Given the description of an element on the screen output the (x, y) to click on. 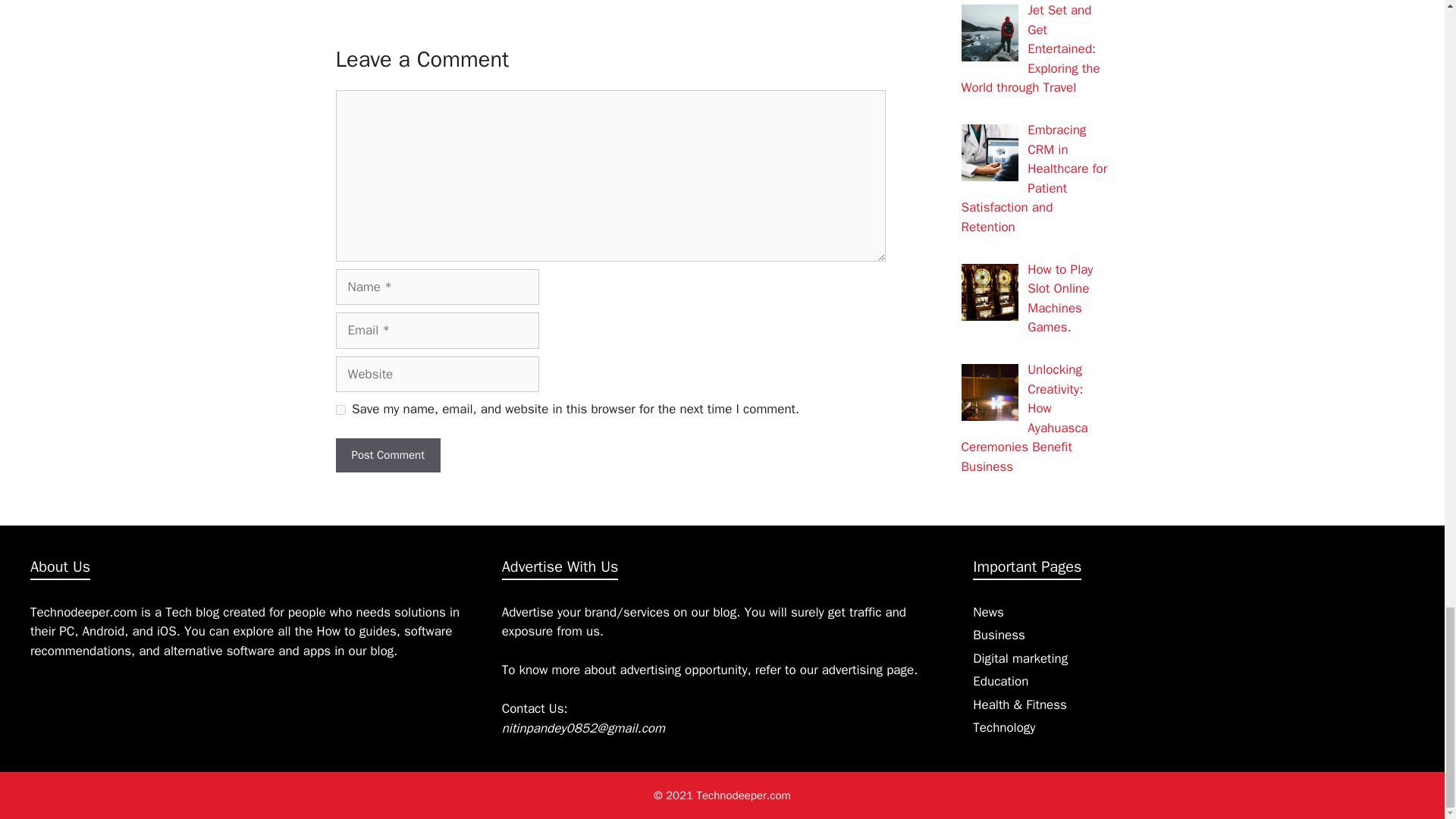
Post Comment (386, 455)
Technology (1003, 727)
Education (999, 681)
Post Comment (386, 455)
Business (998, 634)
News (987, 611)
Digital marketing (1019, 658)
yes (339, 409)
